Given the description of an element on the screen output the (x, y) to click on. 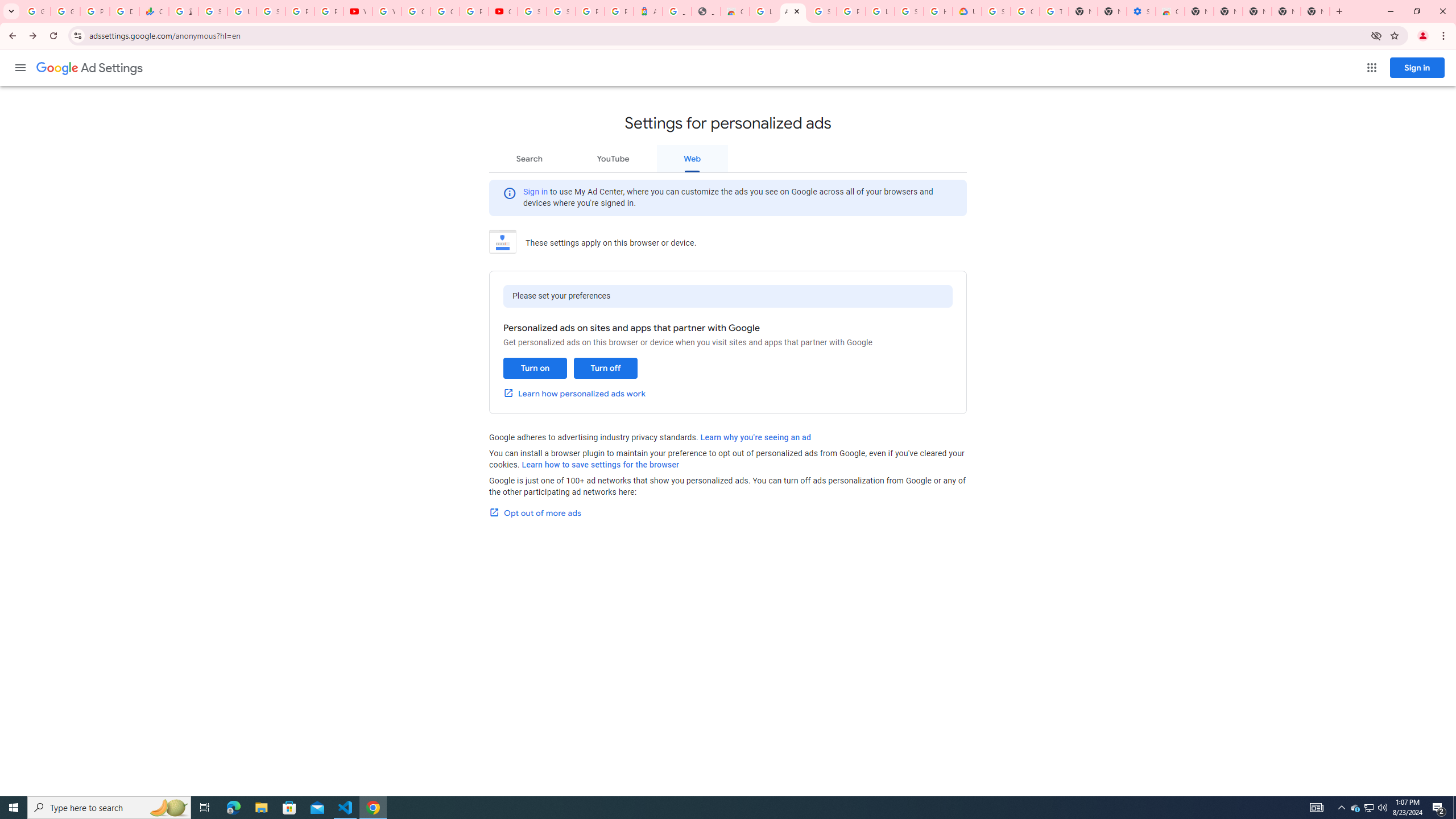
Privacy Checkup (327, 11)
Sign in - Google Accounts (271, 11)
Content Creator Programs & Opportunities - YouTube Creators (502, 11)
Restore (1416, 11)
Forward (32, 35)
Search (529, 157)
Chrome Web Store - Accessibility extensions (1169, 11)
Google Account Help (415, 11)
